Given the description of an element on the screen output the (x, y) to click on. 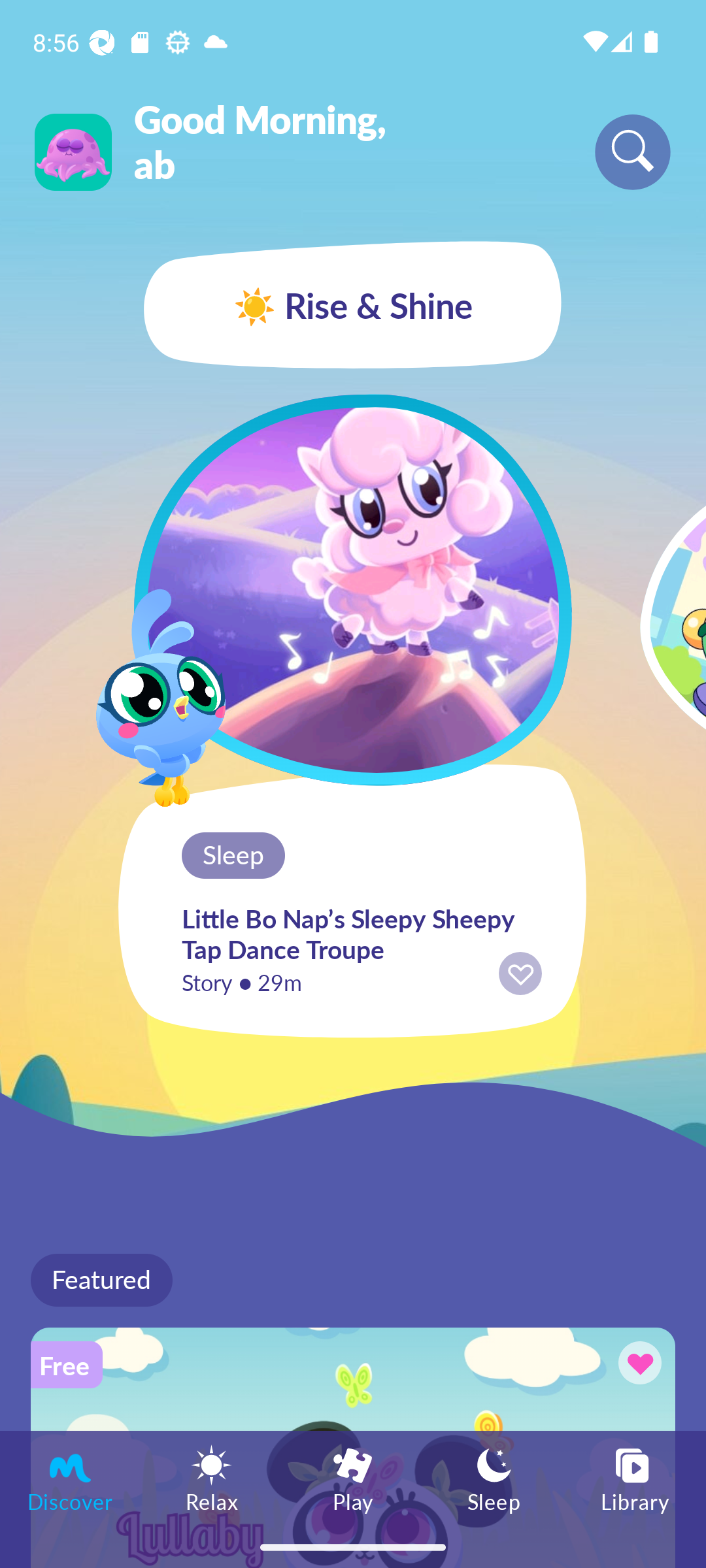
Search (632, 151)
action (520, 973)
Button (636, 1365)
Relax (211, 1478)
Play (352, 1478)
Sleep (493, 1478)
Library (635, 1478)
